Given the description of an element on the screen output the (x, y) to click on. 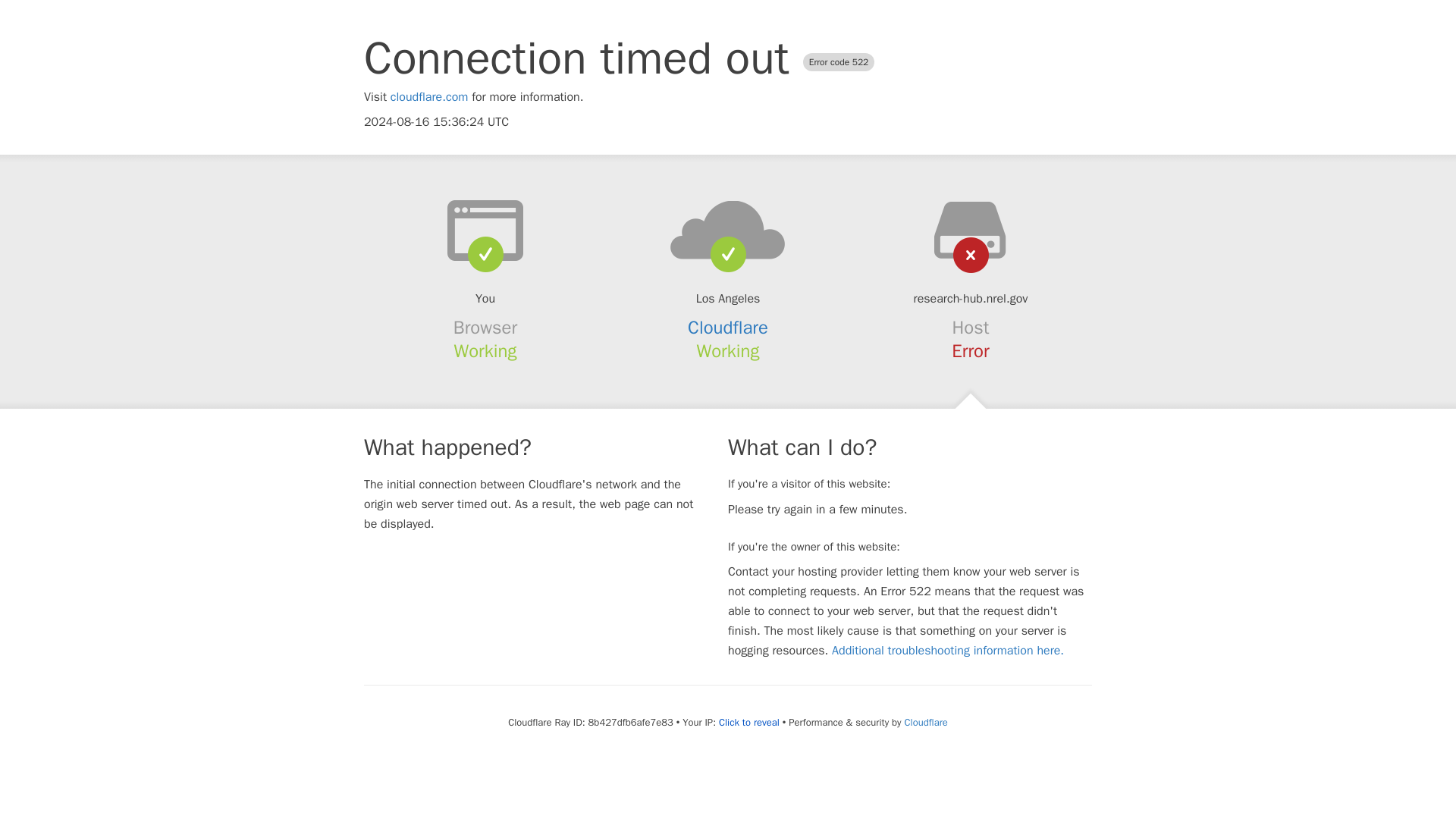
cloudflare.com (429, 96)
Cloudflare (925, 721)
Additional troubleshooting information here. (947, 650)
Cloudflare (727, 327)
Click to reveal (748, 722)
